Given the description of an element on the screen output the (x, y) to click on. 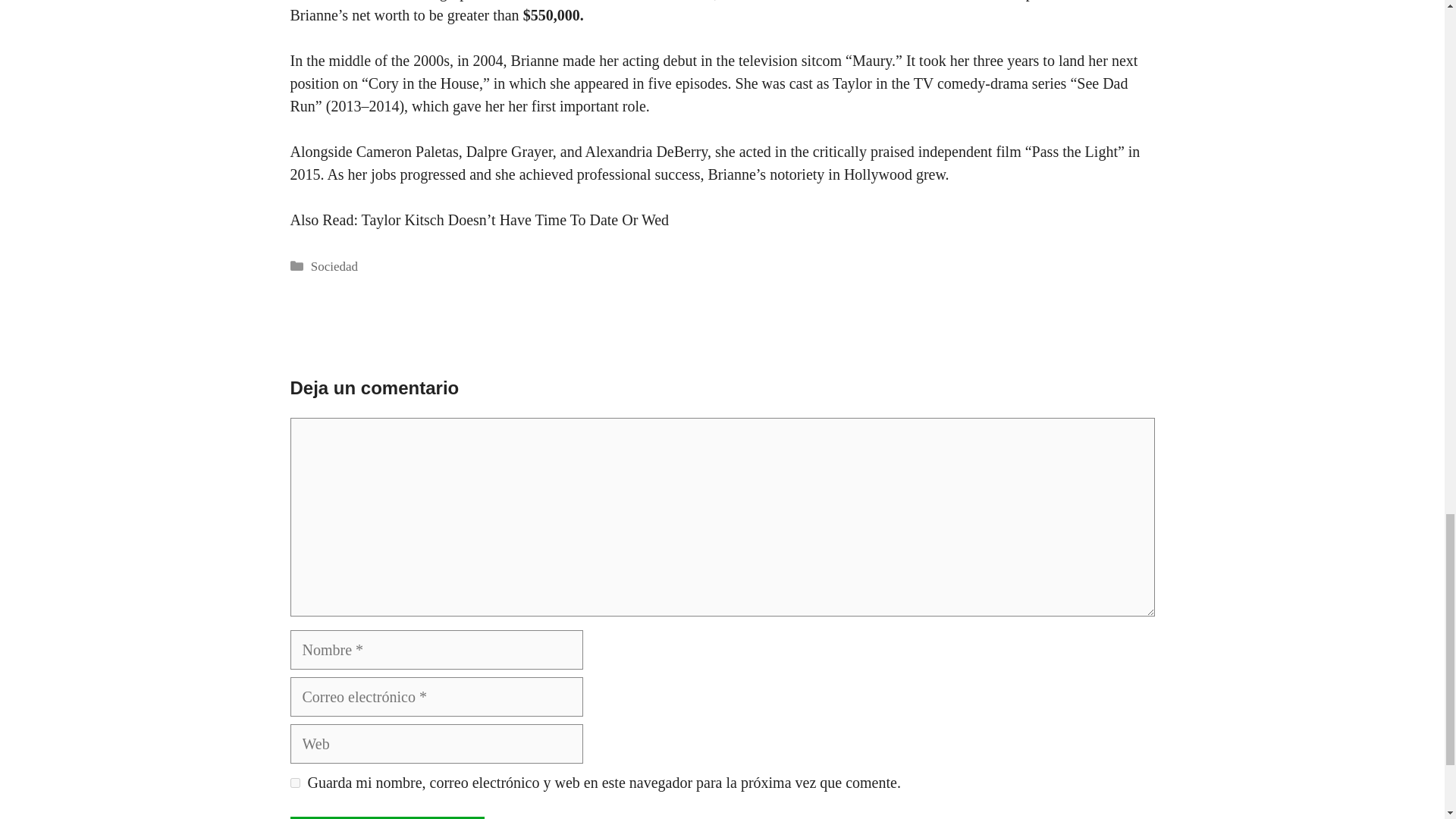
Publicar comentario (386, 817)
Sociedad (334, 266)
Publicar comentario (386, 817)
yes (294, 782)
